Given the description of an element on the screen output the (x, y) to click on. 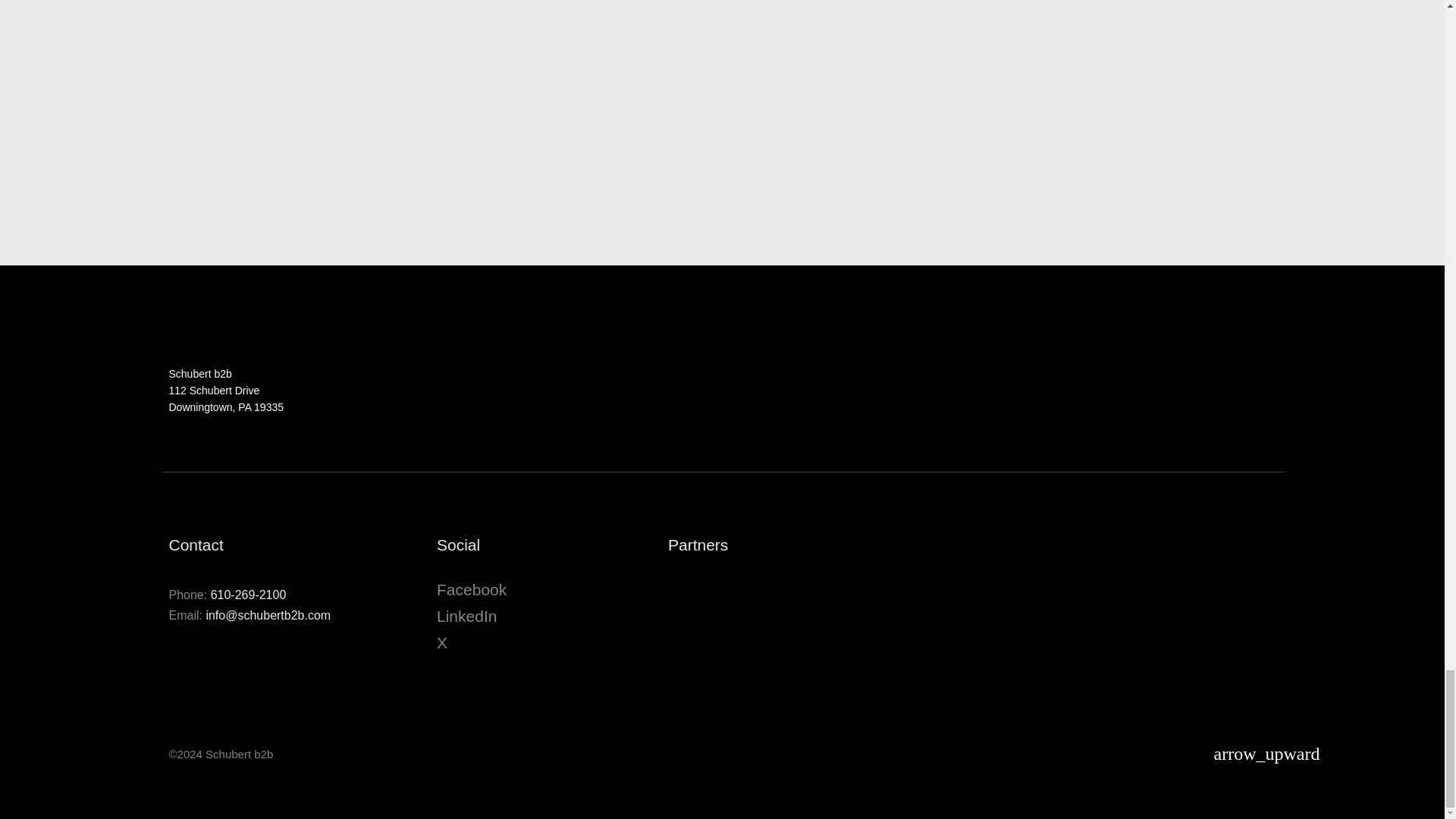
Facebook (471, 589)
LinkedIn (466, 615)
610-269-2100 (248, 594)
